Given the description of an element on the screen output the (x, y) to click on. 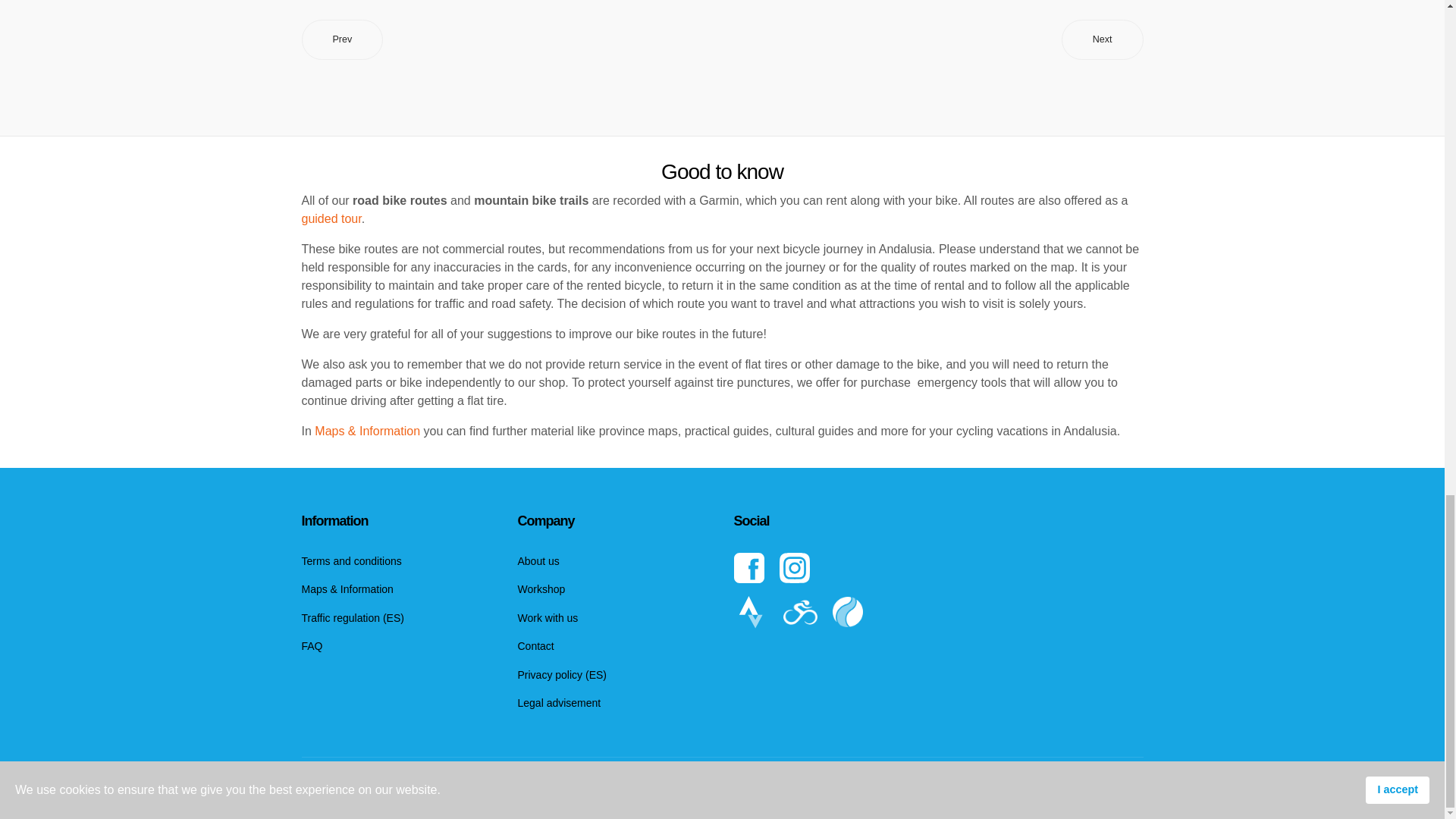
Bicycle routes from bike2malaga (937, 612)
Instagram bike2malaga (937, 567)
bike2malaga in Facebook (755, 567)
Guided road bike tours in Malaga (331, 218)
Information and maps for cycling routes in Andalusia (367, 431)
Bicycle routes in Malaga from bike2malaga (807, 612)
Road bike routes in Malaga from bike2malaga (758, 612)
Traffic regulation for cyclists in Malaga in Spanish (398, 617)
